Given the description of an element on the screen output the (x, y) to click on. 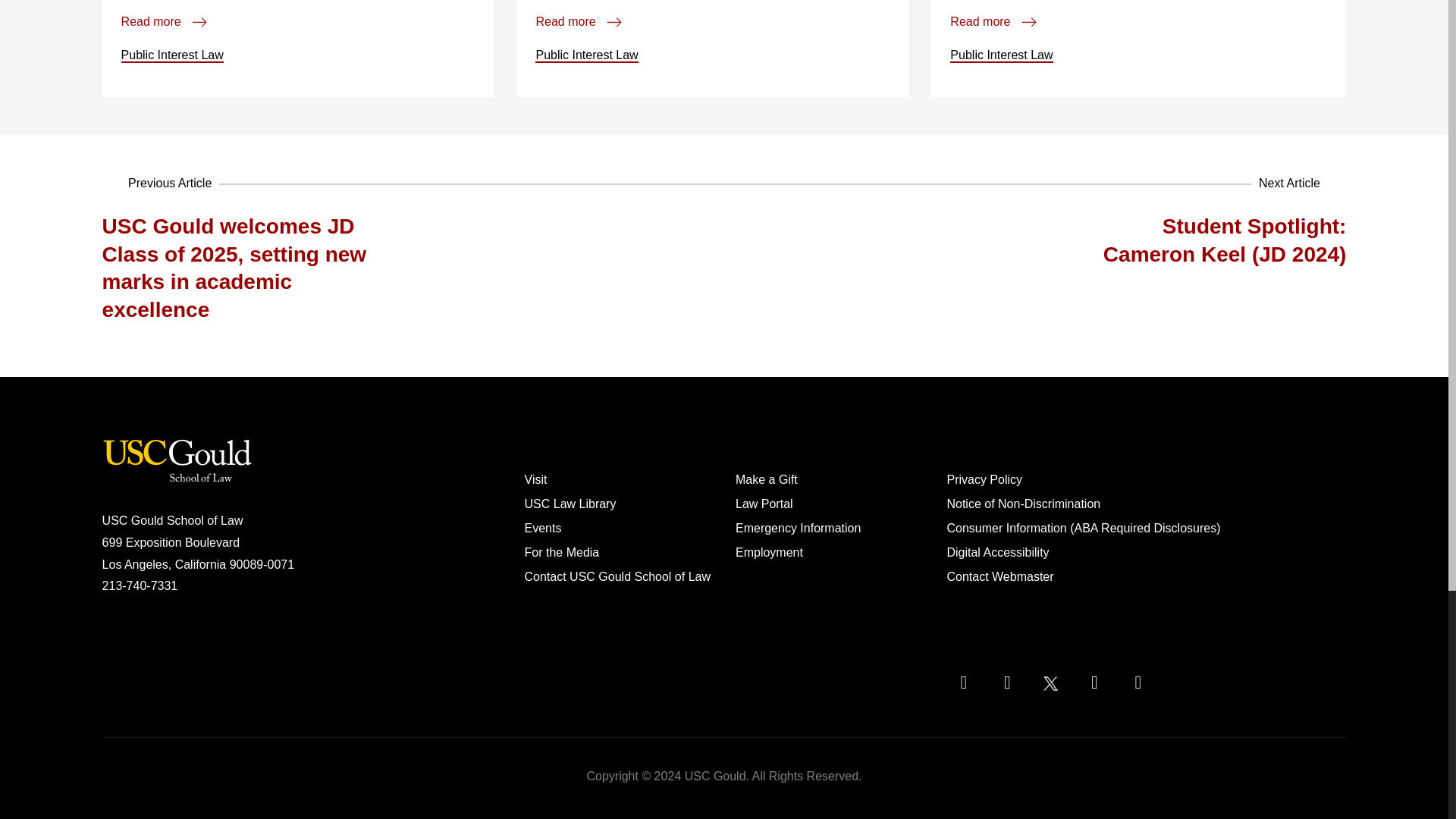
Visit (535, 479)
Events (543, 528)
USC Law Library (569, 504)
